Given the description of an element on the screen output the (x, y) to click on. 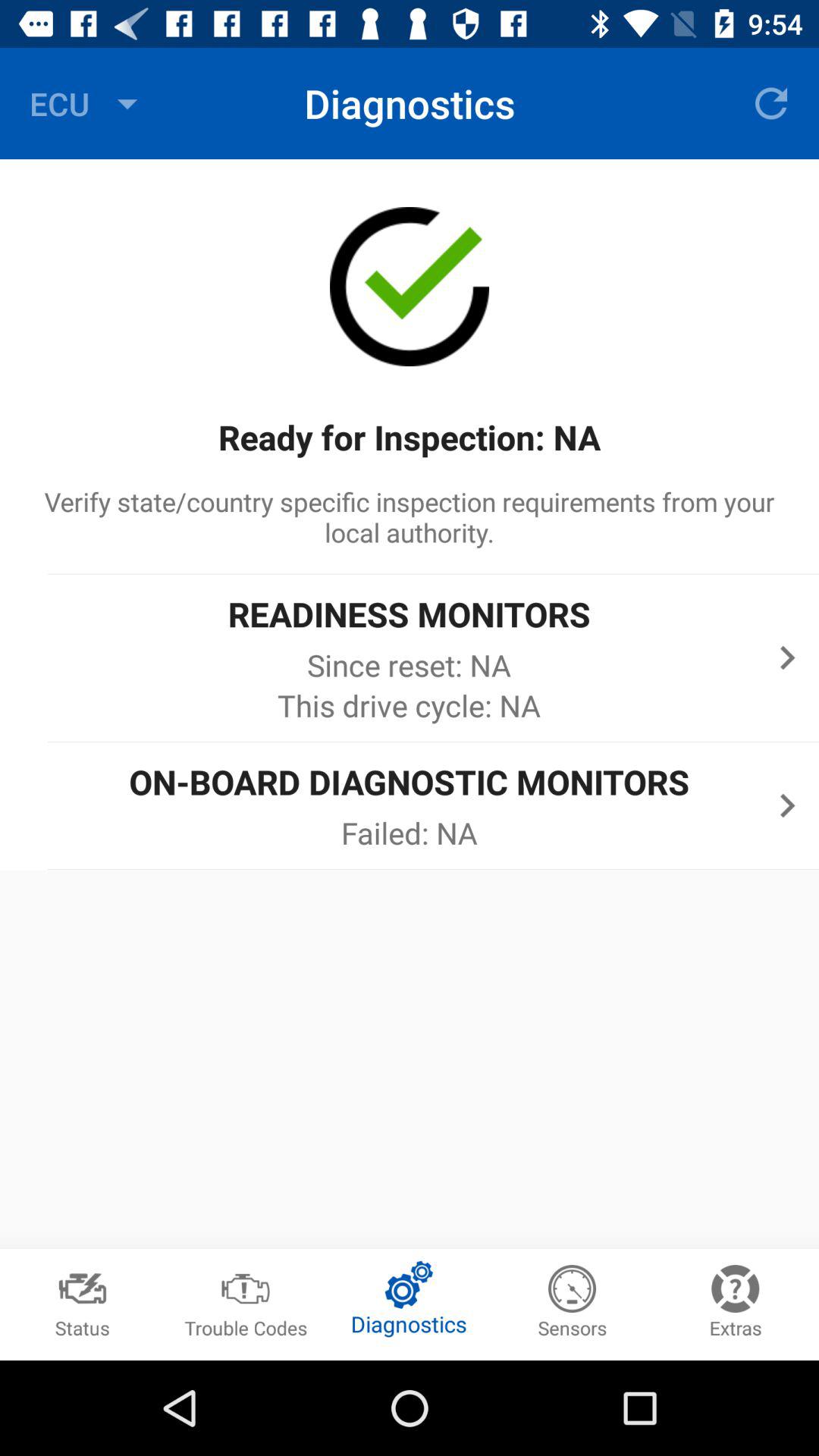
select the icon which is above status at the bottom left corner (82, 1281)
select the arrow icon from the bottom (787, 805)
